Given the description of an element on the screen output the (x, y) to click on. 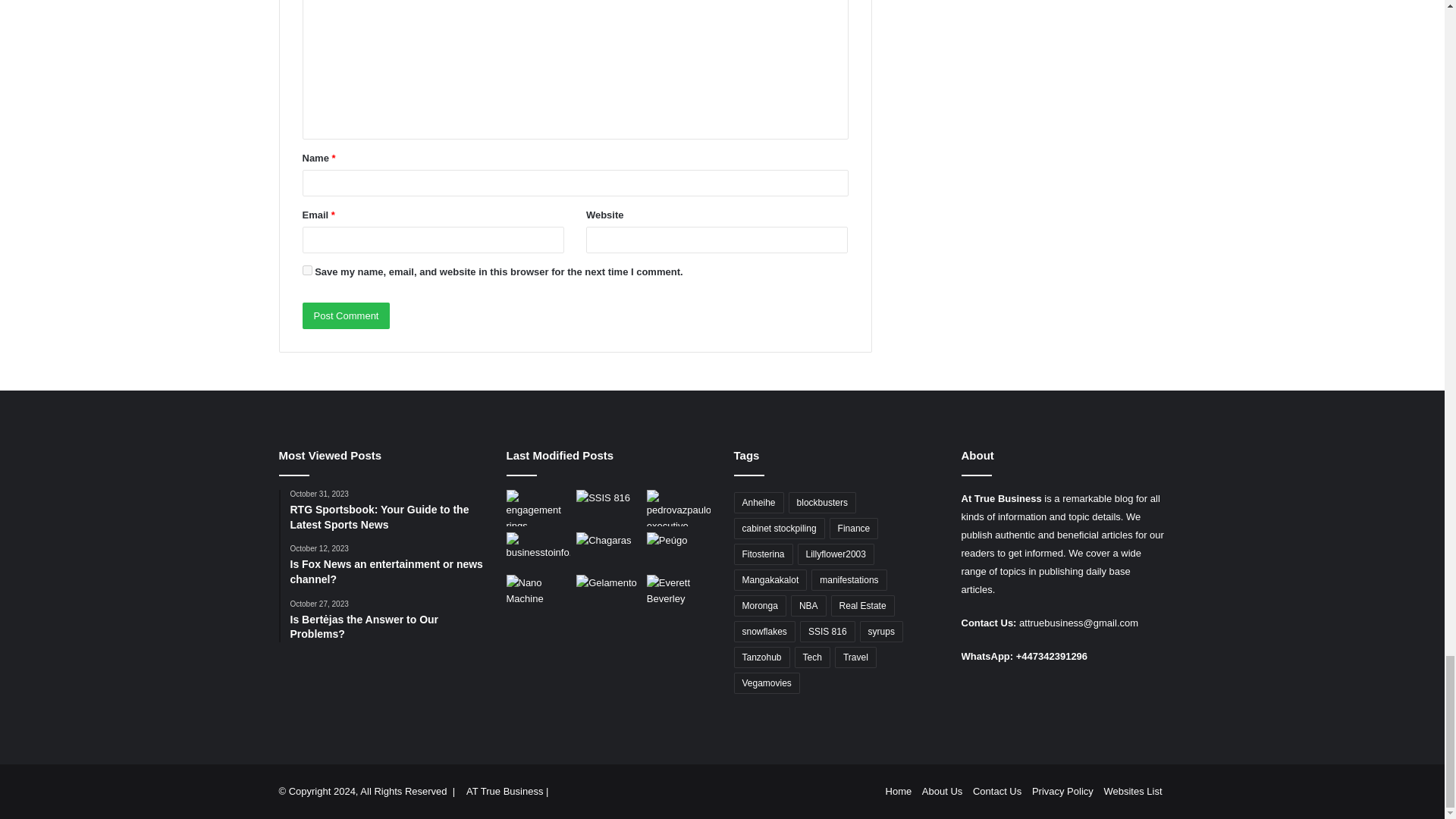
yes (306, 270)
Post Comment (345, 315)
